Given the description of an element on the screen output the (x, y) to click on. 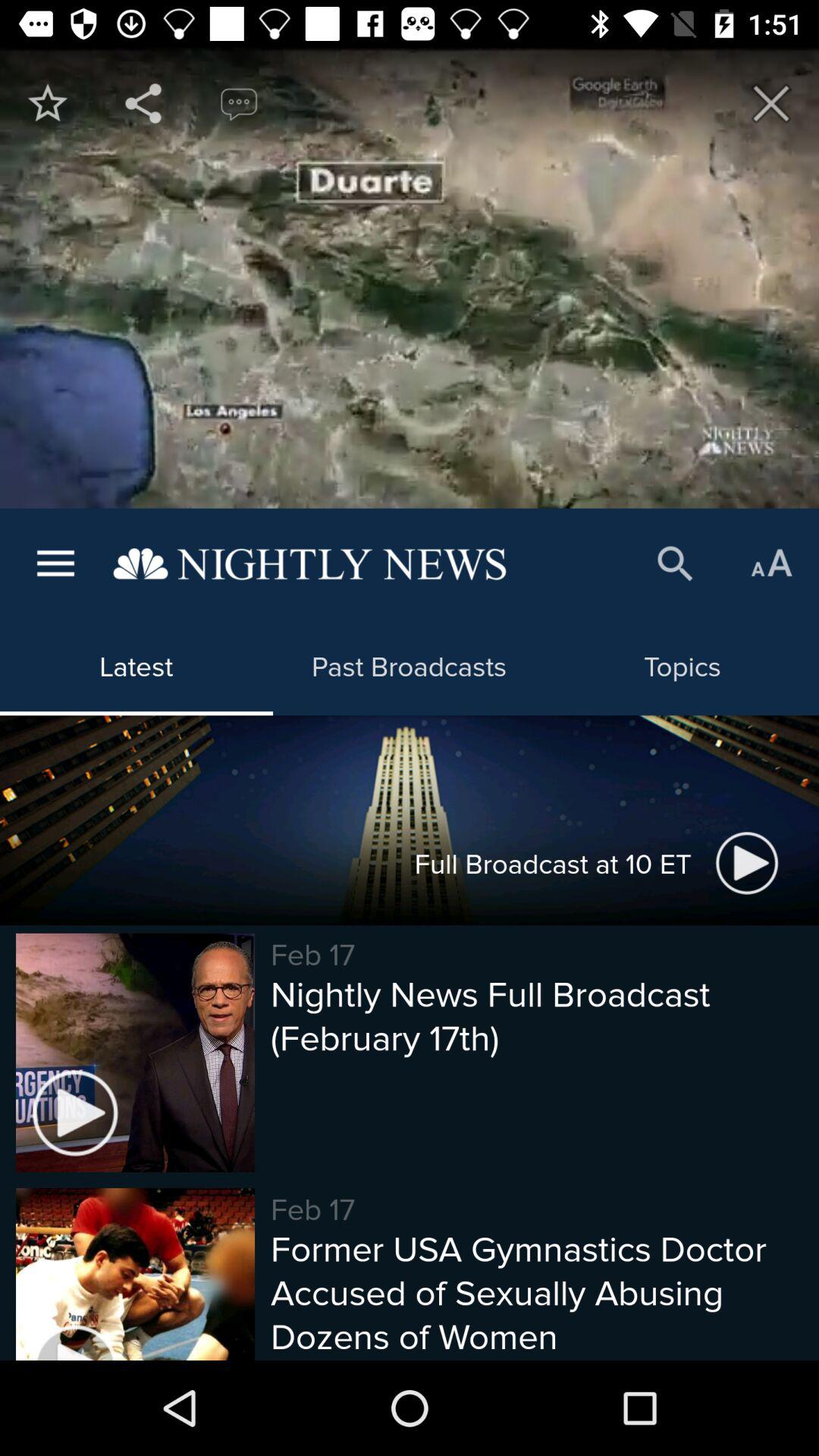
launch the item above latest (309, 563)
